Given the description of an element on the screen output the (x, y) to click on. 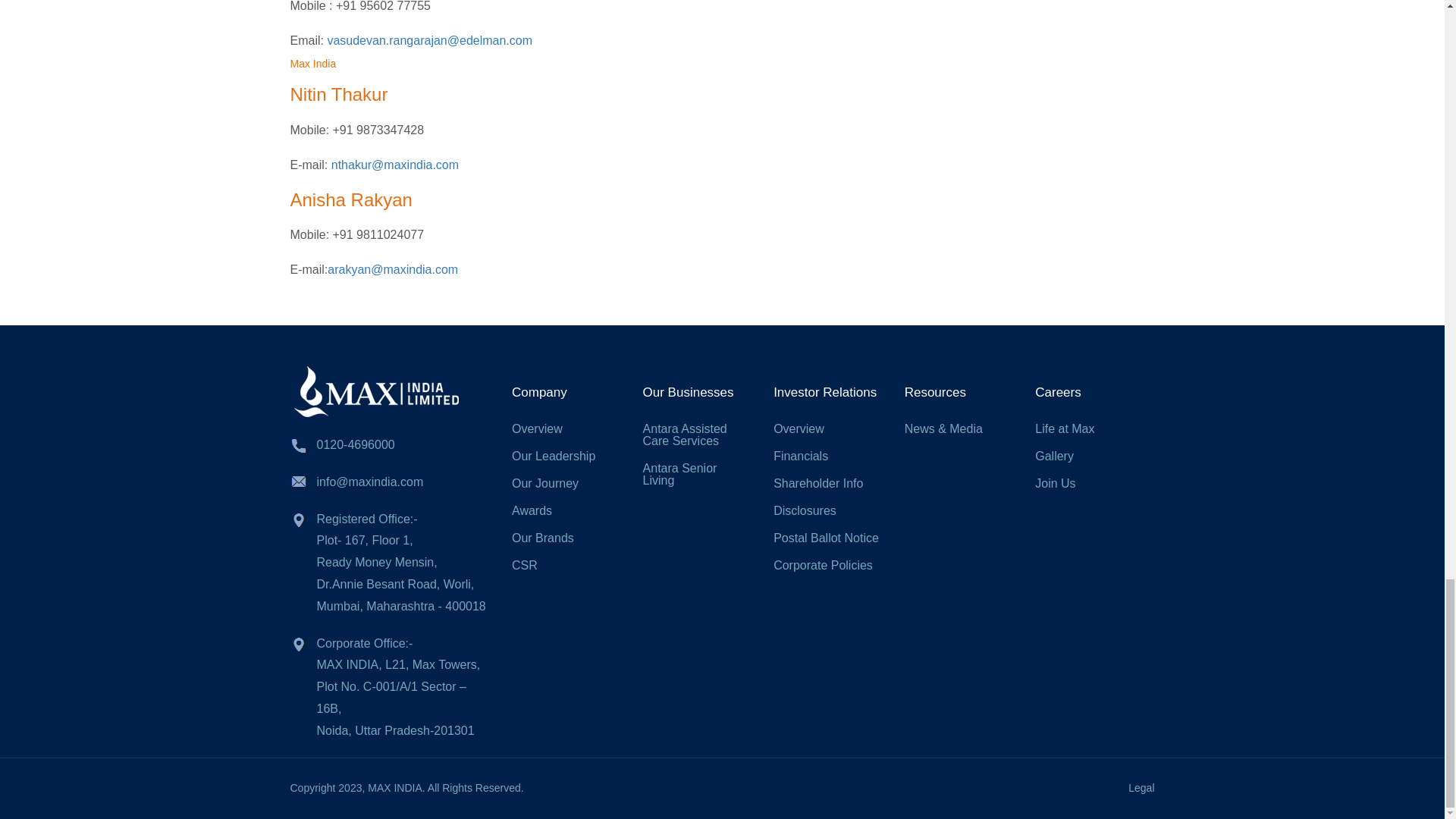
Our Journey (545, 482)
Awards (531, 510)
Overview (537, 428)
Antara Assisted Care Services (684, 434)
Our Leadership (553, 455)
CSR (524, 564)
Our Brands (542, 537)
0120-4696000 (355, 444)
